Given the description of an element on the screen output the (x, y) to click on. 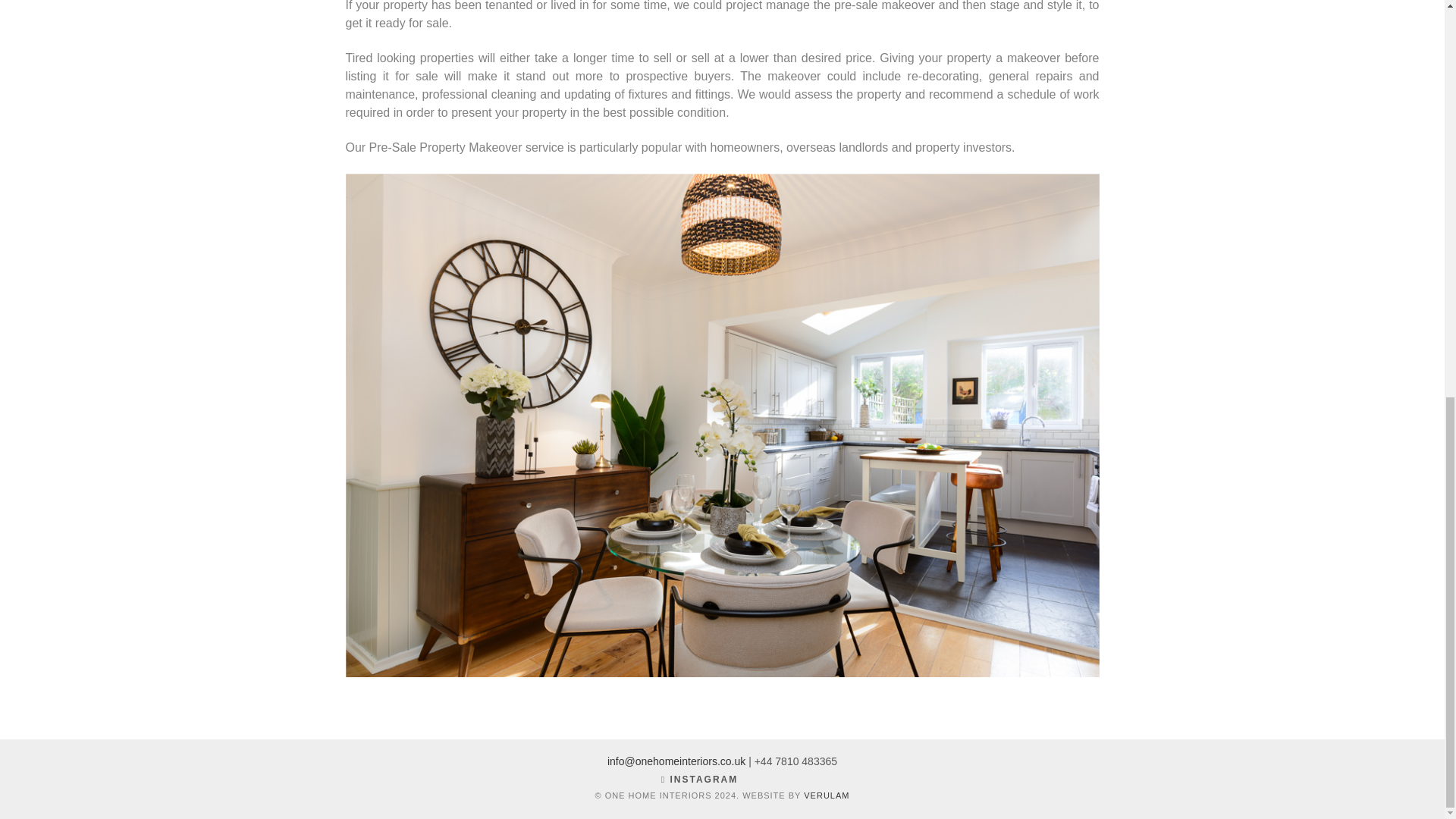
Website Design Agency St Albans (825, 795)
Follow us on instagram (722, 779)
